Given the description of an element on the screen output the (x, y) to click on. 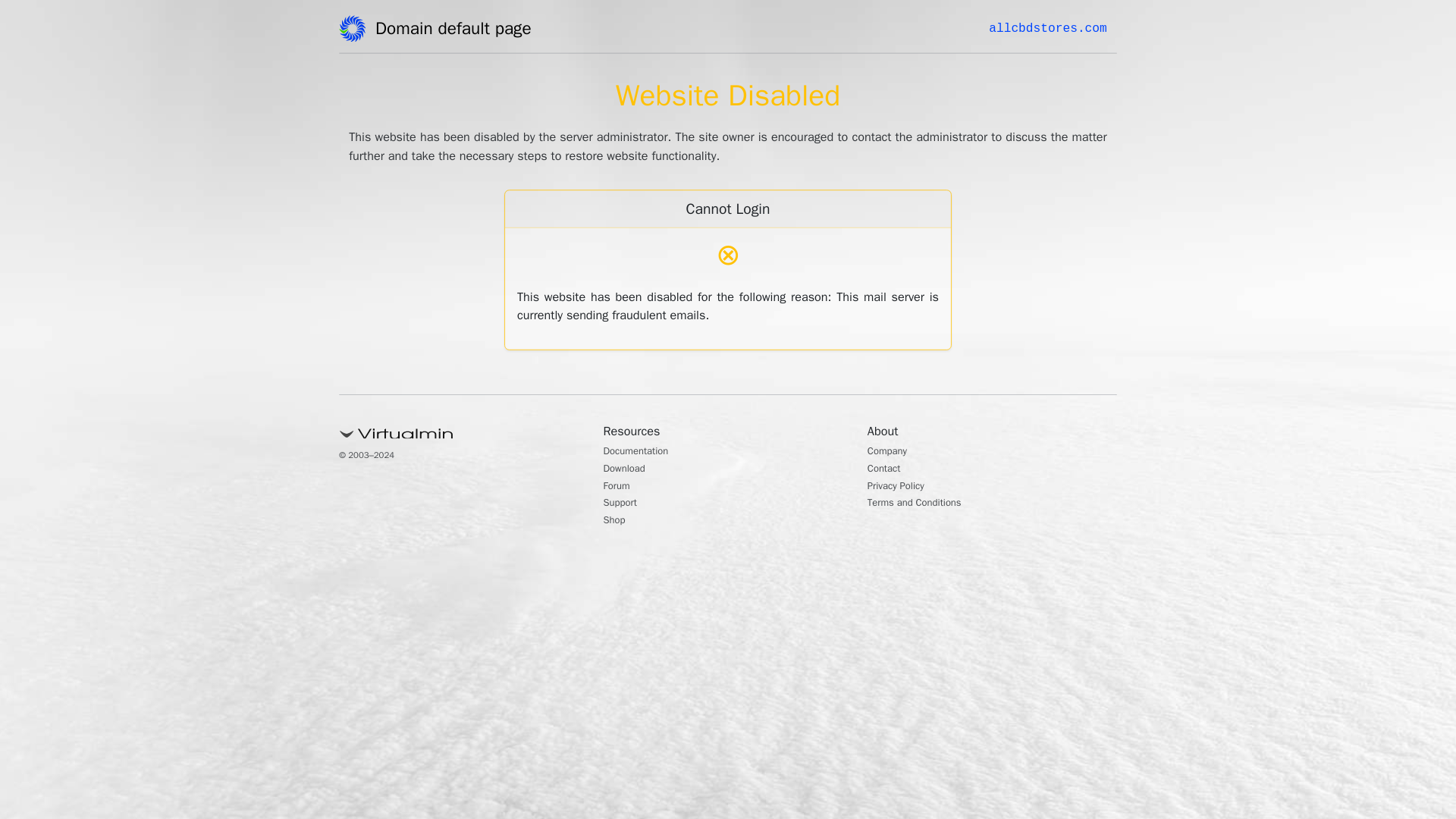
Skip to content (34, 9)
Terms of Use (996, 330)
RSS (977, 612)
BDCLIFEINSTYLE.COM (411, 28)
Privacy Policy (999, 306)
Blog (976, 510)
Log in (980, 588)
DMCA Policy (996, 282)
Search (1050, 85)
Contact Us (991, 258)
Search (1050, 85)
Search for: (1049, 47)
Disclaimer (990, 354)
August 2020 (996, 432)
Search (1050, 85)
